Given the description of an element on the screen output the (x, y) to click on. 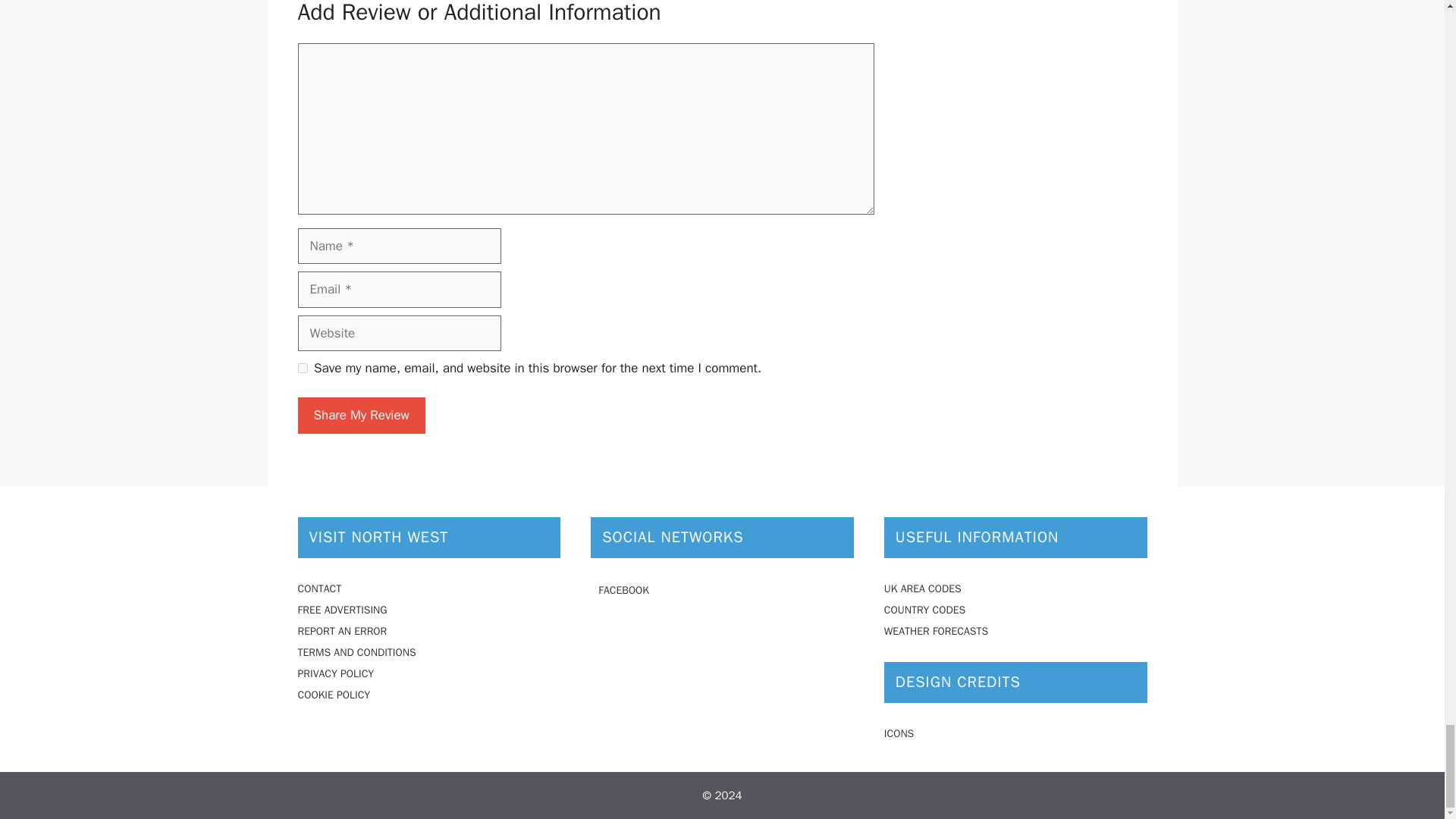
yes (302, 368)
Share My Review (361, 415)
